Given the description of an element on the screen output the (x, y) to click on. 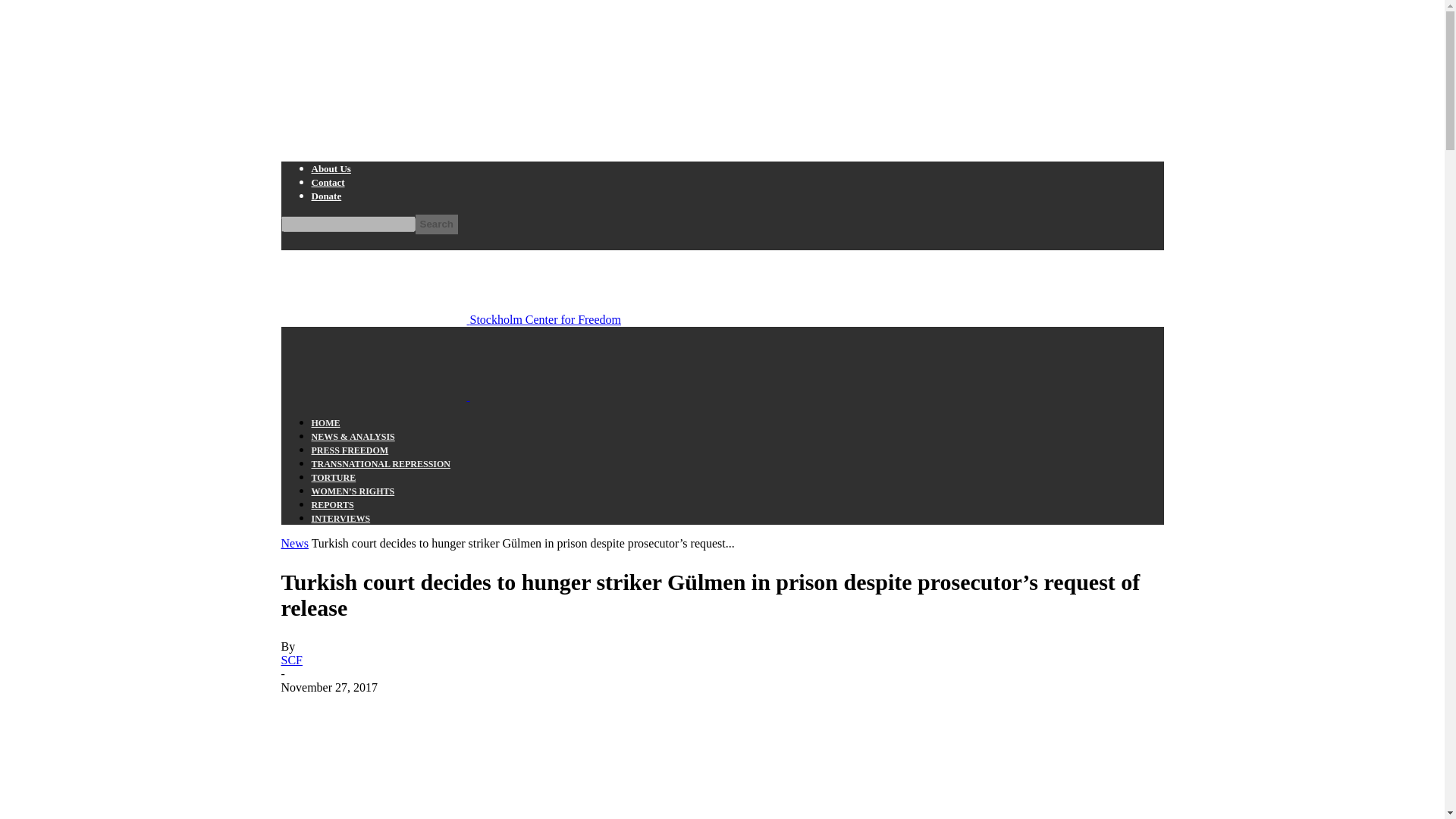
Stockholm Center for Freedom (451, 318)
PRESS FREEDOM (349, 450)
View all posts in News (294, 543)
INTERVIEWS (340, 518)
Search (436, 224)
About Us (330, 168)
Search (436, 224)
TRANSNATIONAL REPRESSION (380, 463)
Donate (325, 195)
News (294, 543)
Contact (327, 182)
HOME (325, 422)
REPORTS (332, 504)
TORTURE (333, 477)
